Given the description of an element on the screen output the (x, y) to click on. 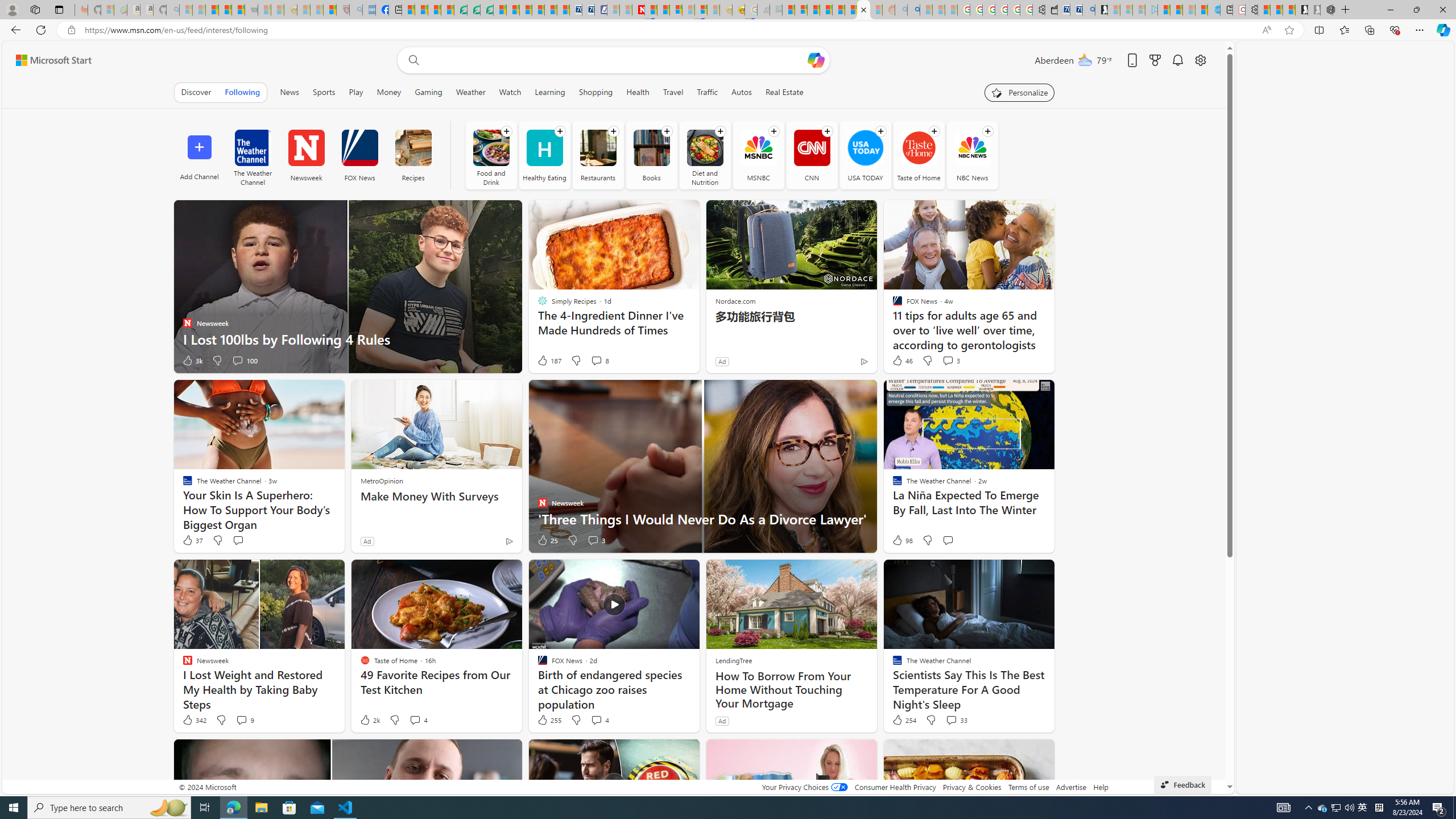
Latest Politics News & Archive | Newsweek.com (638, 9)
Terms of Use Agreement (473, 9)
Privacy & Cookies (971, 786)
46 Like (901, 360)
